Given the description of an element on the screen output the (x, y) to click on. 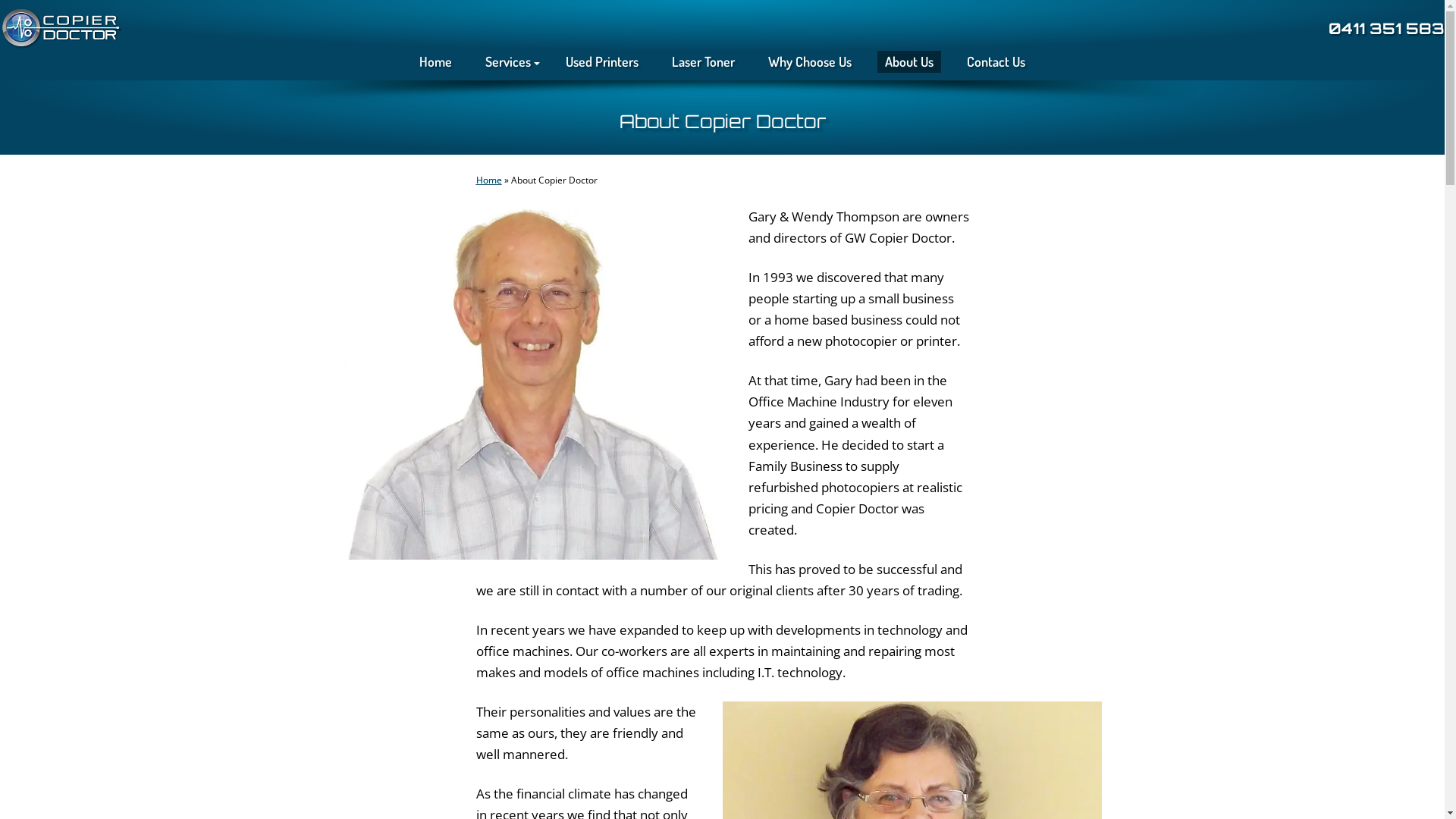
Why Choose Us Element type: text (809, 61)
Used Printers Element type: text (602, 61)
About Us Element type: text (909, 61)
Services Element type: text (508, 61)
0411 351 583 Element type: text (1386, 27)
Home Element type: text (435, 61)
Contact Us Element type: text (995, 61)
Home Element type: text (489, 179)
Laser Toner Element type: text (703, 61)
